Given the description of an element on the screen output the (x, y) to click on. 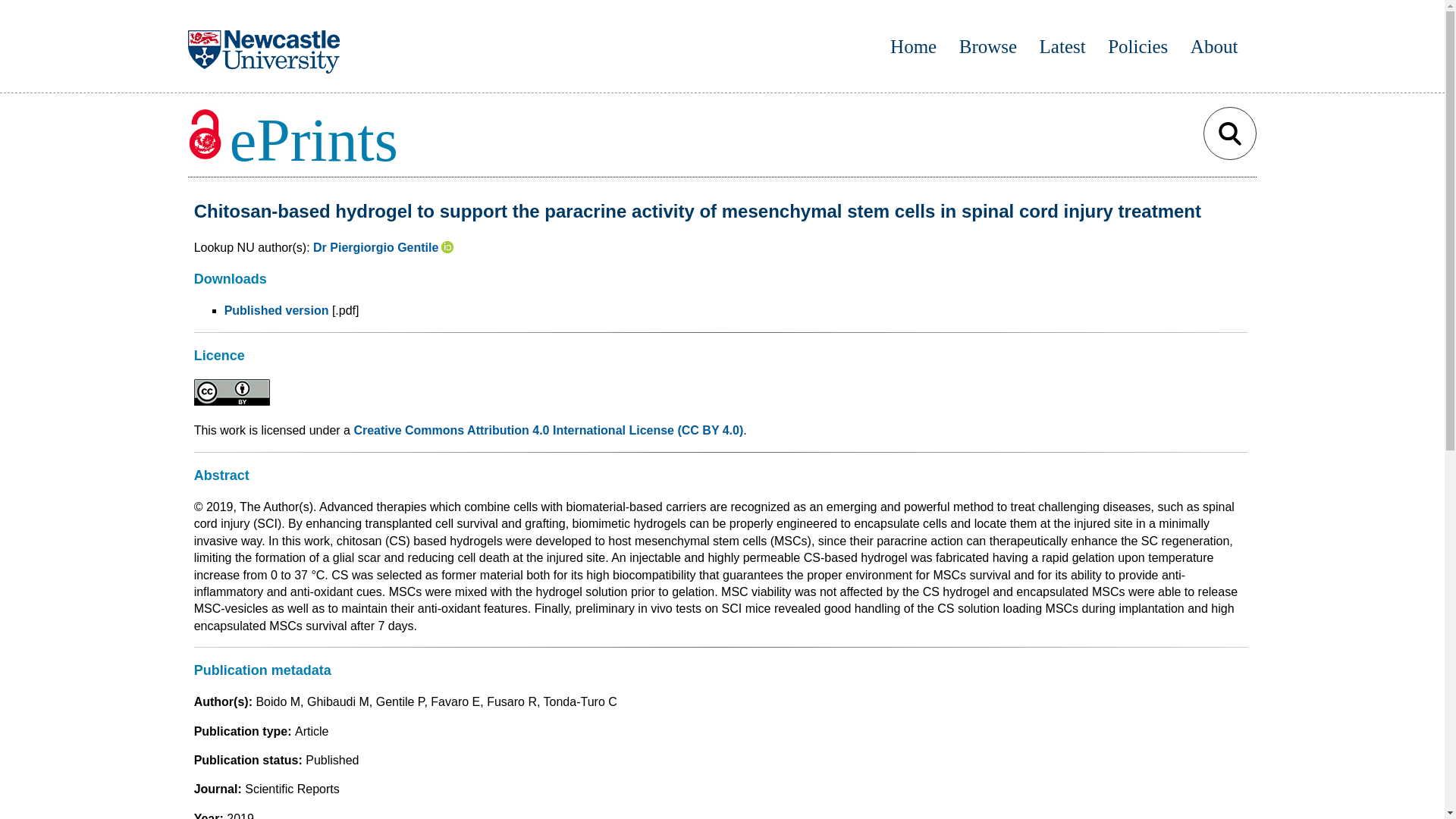
View usage policies (1137, 46)
About Open Access (1215, 46)
Browse (987, 46)
Policies (1137, 46)
Newcastle University eprints (309, 140)
Latest (1062, 46)
Browse by author or year (987, 46)
Home (912, 46)
View ePrints listed within the last month (1062, 46)
ePrints (292, 140)
About (1215, 46)
Published version (276, 309)
ORCID: 0000-0002-3036-6594 (448, 246)
ePrints homepage (912, 46)
Dr Piergiorgio Gentile (375, 246)
